Given the description of an element on the screen output the (x, y) to click on. 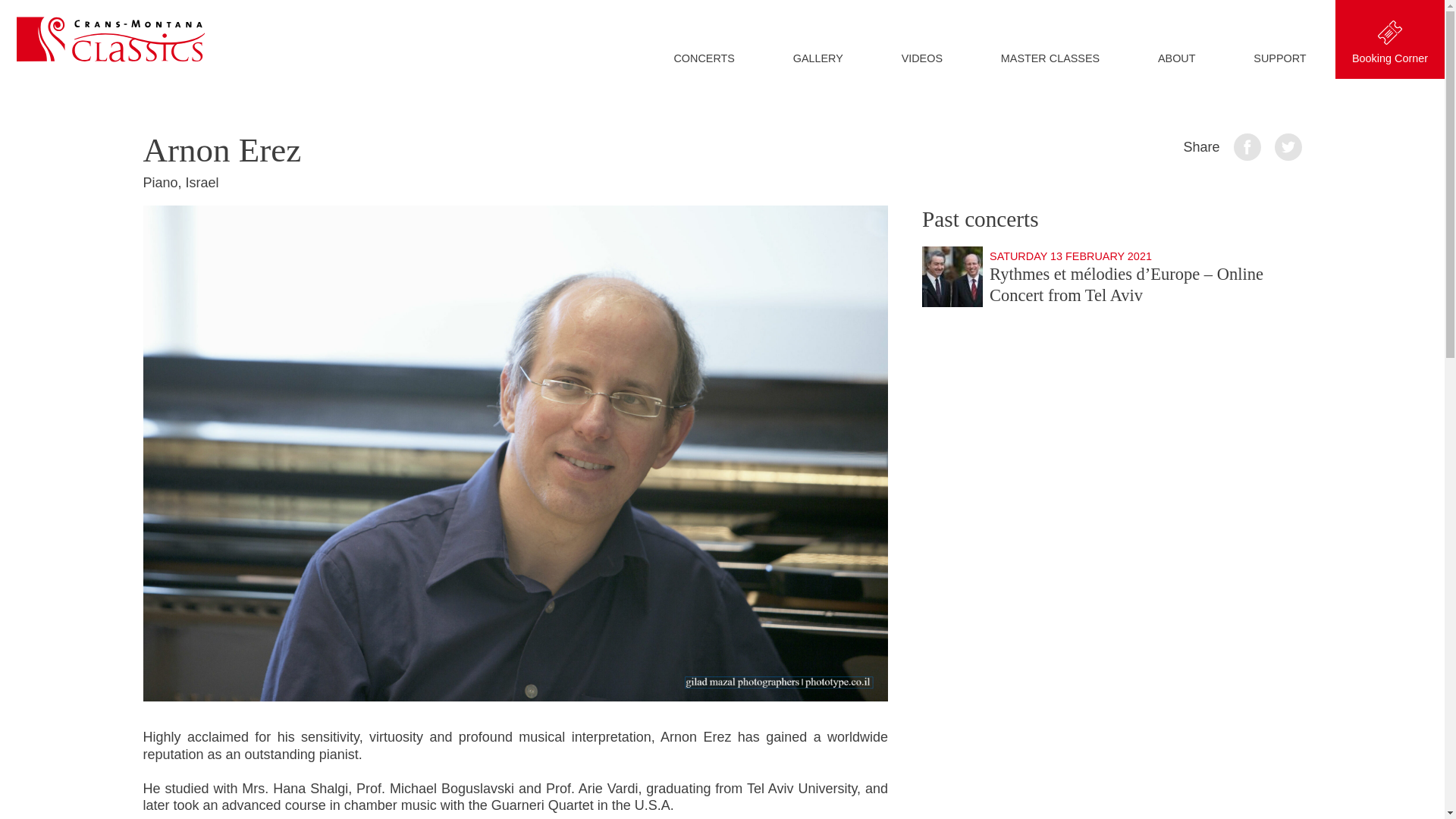
MASTER CLASSES Element type: text (1049, 57)
VIDEOS Element type: text (921, 57)
ABOUT Element type: text (1176, 57)
GALLERY Element type: text (817, 57)
Booking Corner Element type: text (1389, 39)
CONCERTS Element type: text (703, 57)
SUPPORT Element type: text (1279, 57)
